Given the description of an element on the screen output the (x, y) to click on. 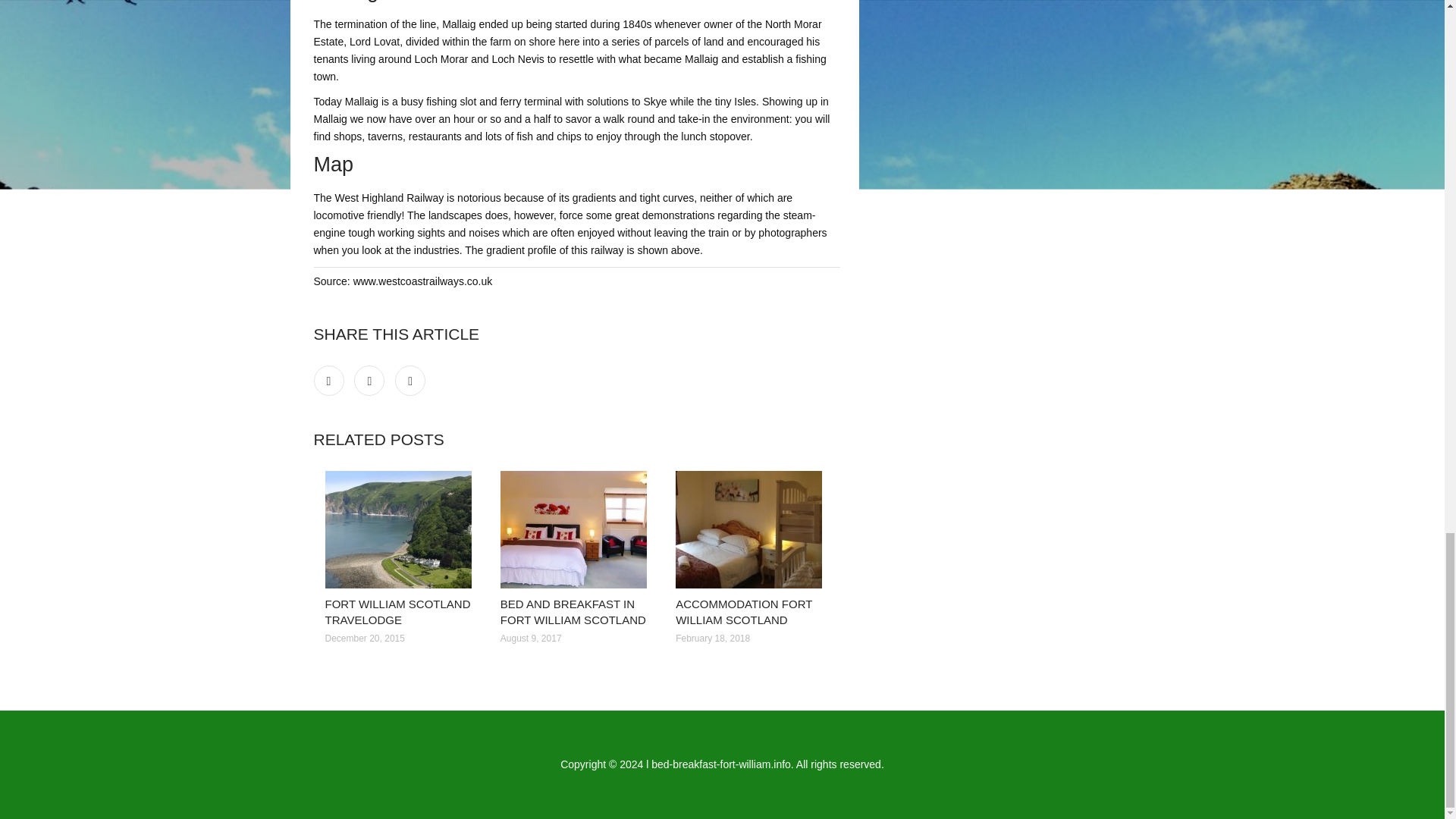
Bed and Breakfast in Fort William Scotland (576, 529)
BED AND BREAKFAST IN FORT WILLIAM SCOTLAND (573, 611)
Accommodation Fort William Scotland (751, 529)
ACCOMMODATION FORT WILLIAM SCOTLAND (743, 611)
Fort William Scotland Travelodge (400, 529)
FORT WILLIAM SCOTLAND TRAVELODGE (397, 611)
